Given the description of an element on the screen output the (x, y) to click on. 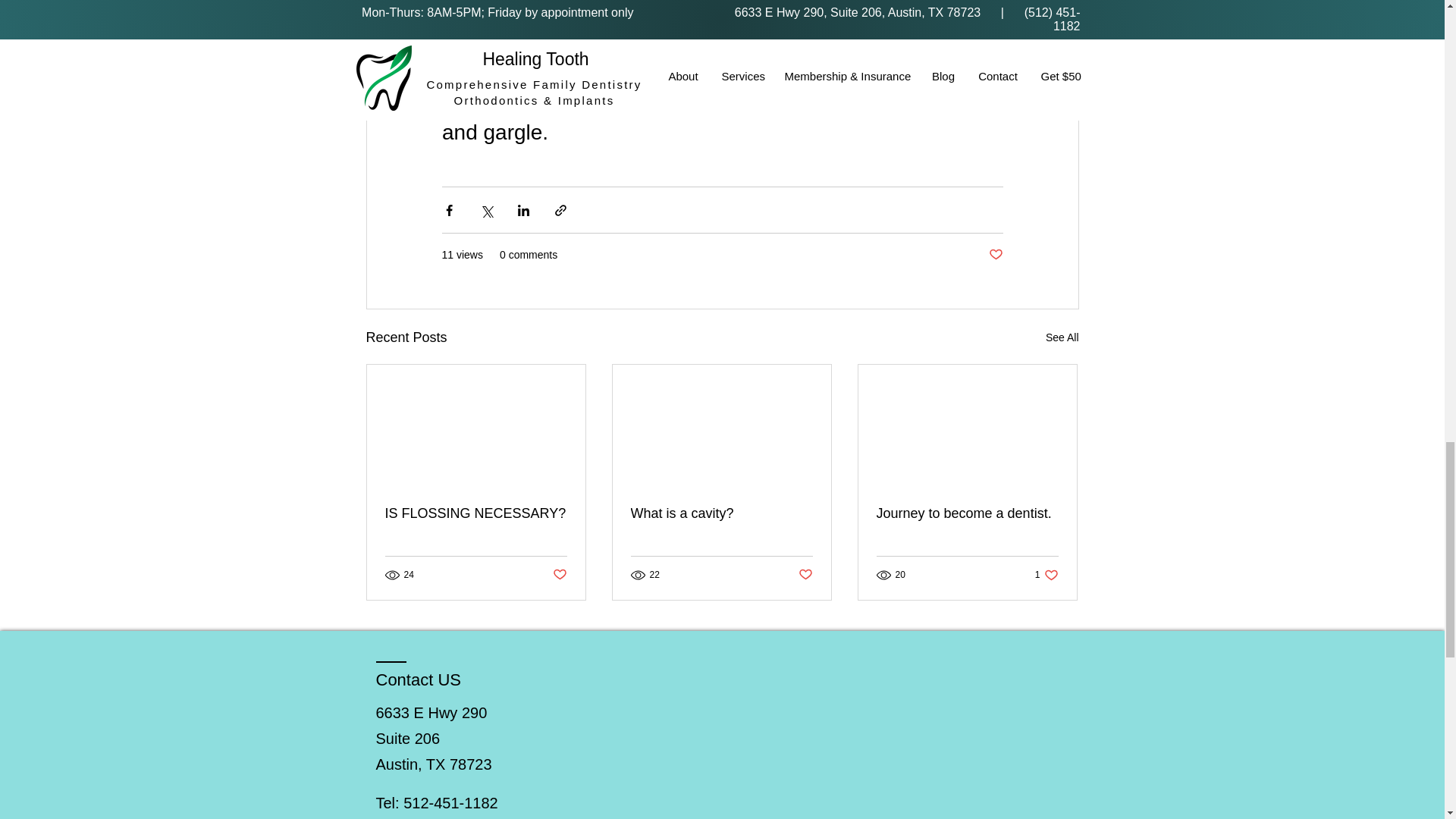
512-451-1182 (450, 802)
What is a cavity? (721, 513)
IS FLOSSING NECESSARY? (476, 513)
Post not marked as liked (995, 254)
Post not marked as liked (804, 575)
See All (1046, 575)
Journey to become a dentist. (1061, 337)
Post not marked as liked (967, 513)
